Given the description of an element on the screen output the (x, y) to click on. 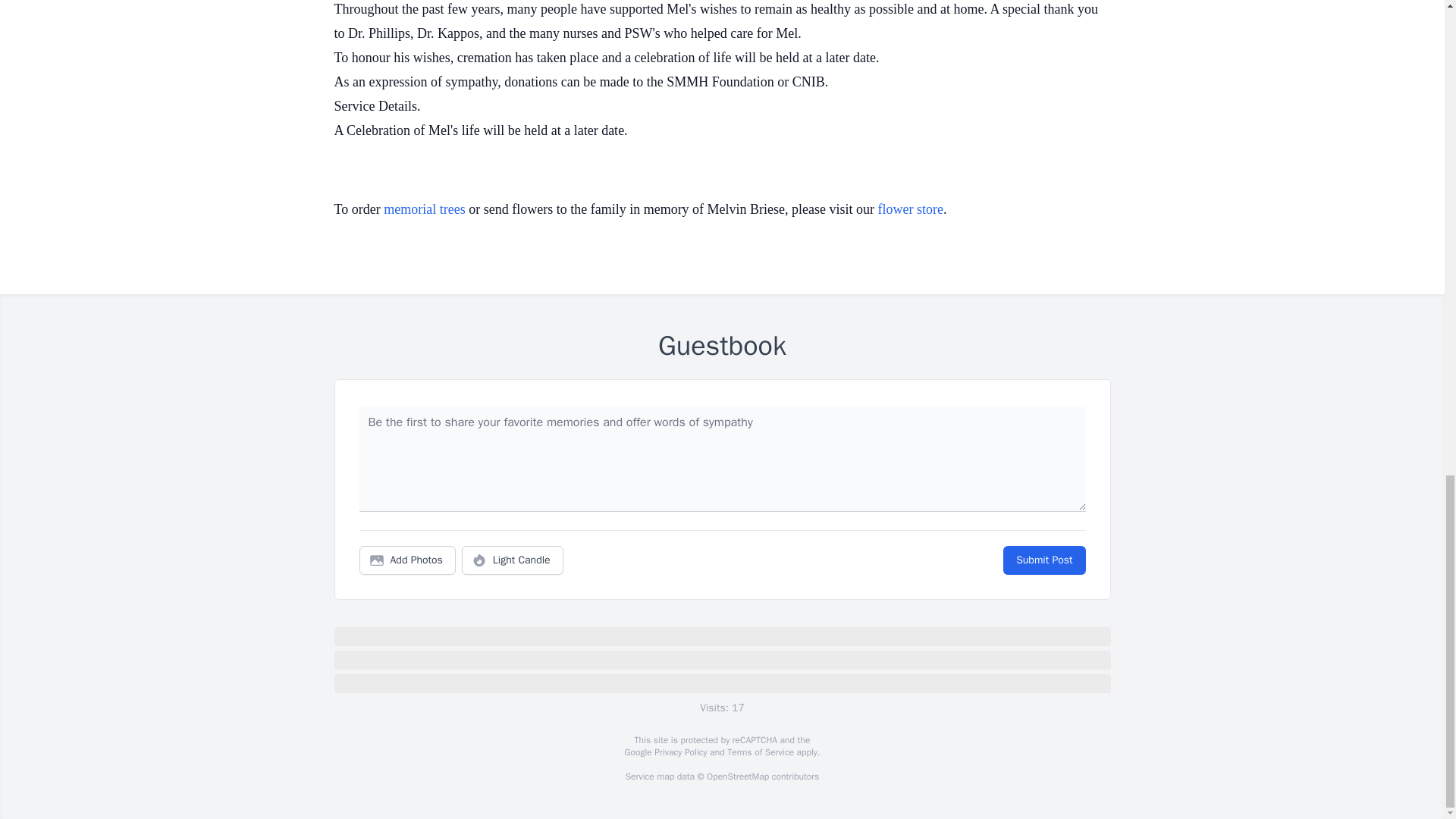
Light Candle (512, 560)
Privacy Policy (679, 752)
Add Photos (407, 560)
memorial trees (424, 209)
flower store (910, 209)
Terms of Service (759, 752)
OpenStreetMap (737, 776)
Submit Post (1043, 560)
